Given the description of an element on the screen output the (x, y) to click on. 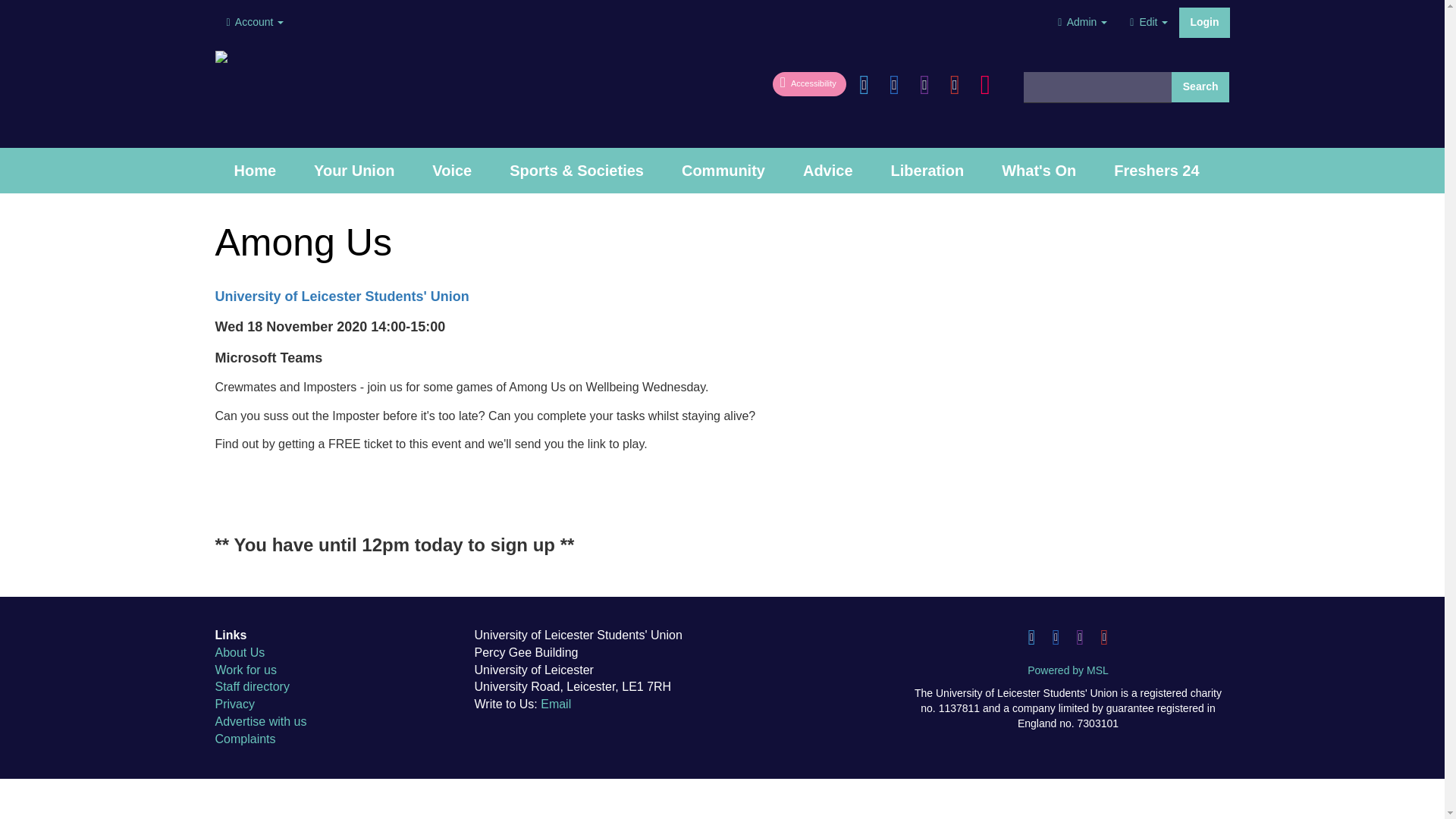
Account (255, 22)
Search (1201, 87)
Home (255, 170)
Voice (451, 170)
Login (1203, 22)
Edit (1148, 22)
Search (1201, 87)
Accessibility (810, 81)
Your Union (354, 170)
Admin (1082, 22)
